Given the description of an element on the screen output the (x, y) to click on. 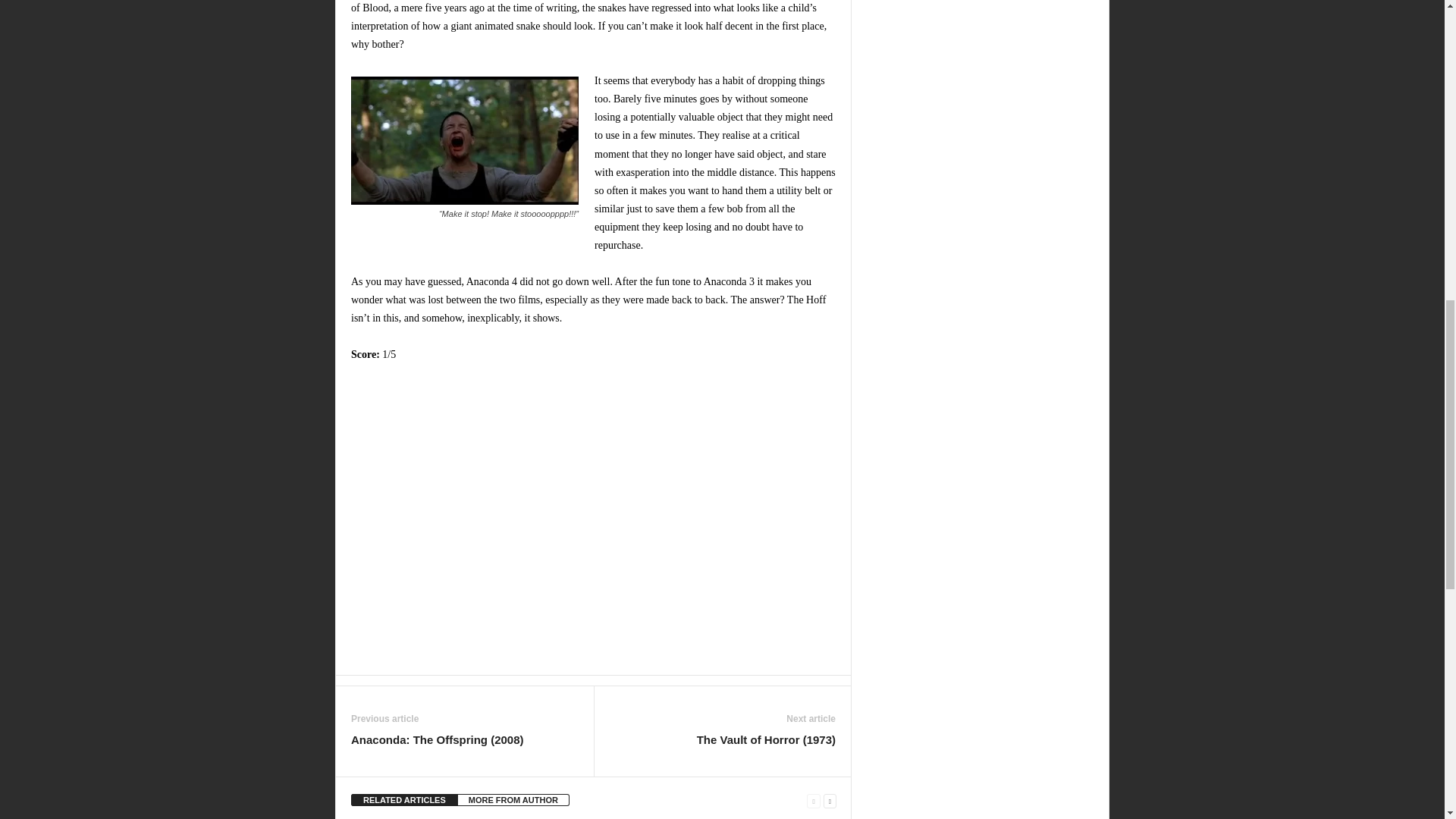
Anacondas: Trail Of Blood - Trailer (592, 518)
